Given the description of an element on the screen output the (x, y) to click on. 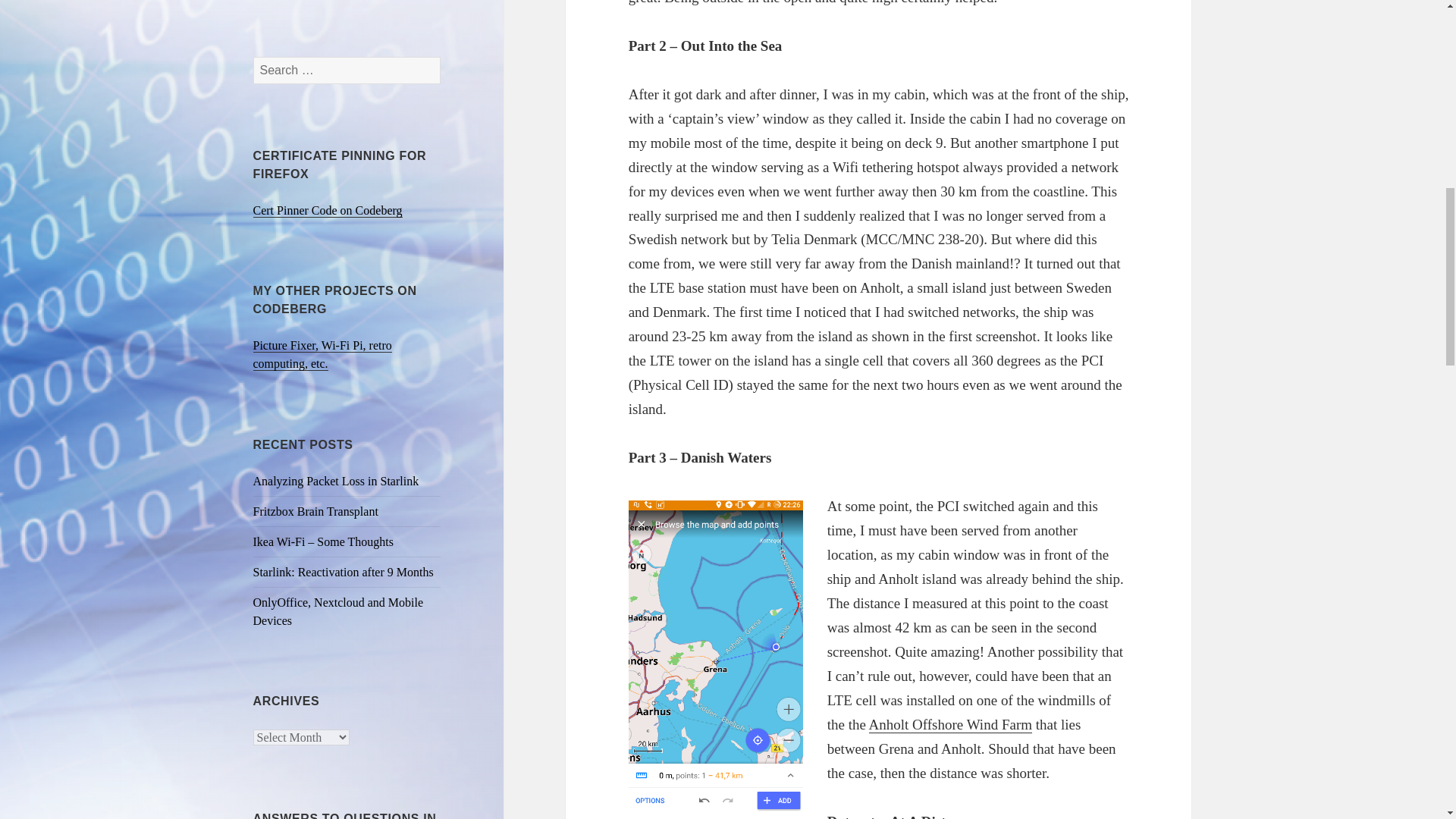
Fritzbox Brain Transplant (315, 511)
Starlink: Reactivation after 9 Months (343, 571)
Picture Fixer, Wi-Fi Pi, retro computing, etc. (322, 355)
OnlyOffice, Nextcloud and Mobile Devices (338, 611)
Anholt Offshore Wind Farm (950, 724)
Cert Pinner Code on Codeberg (328, 210)
Analyzing Packet Loss in Starlink (336, 481)
